Given the description of an element on the screen output the (x, y) to click on. 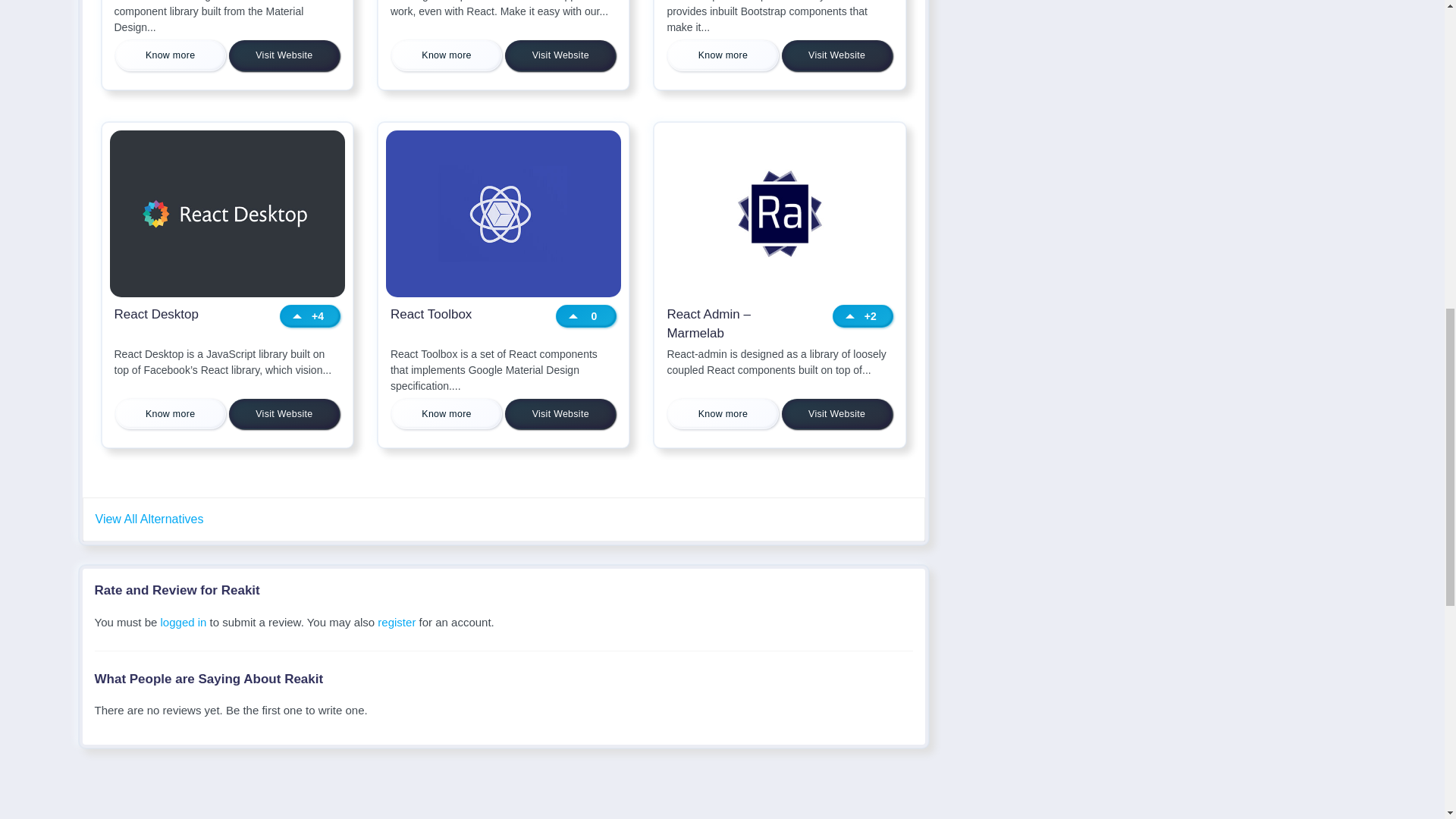
Visit Website (560, 55)
Know more (170, 413)
Know more (721, 55)
React Desktop (184, 323)
Know more (446, 55)
Know more (170, 55)
Visit Website (283, 55)
Visit Website (283, 413)
Visit Website (836, 55)
